Given the description of an element on the screen output the (x, y) to click on. 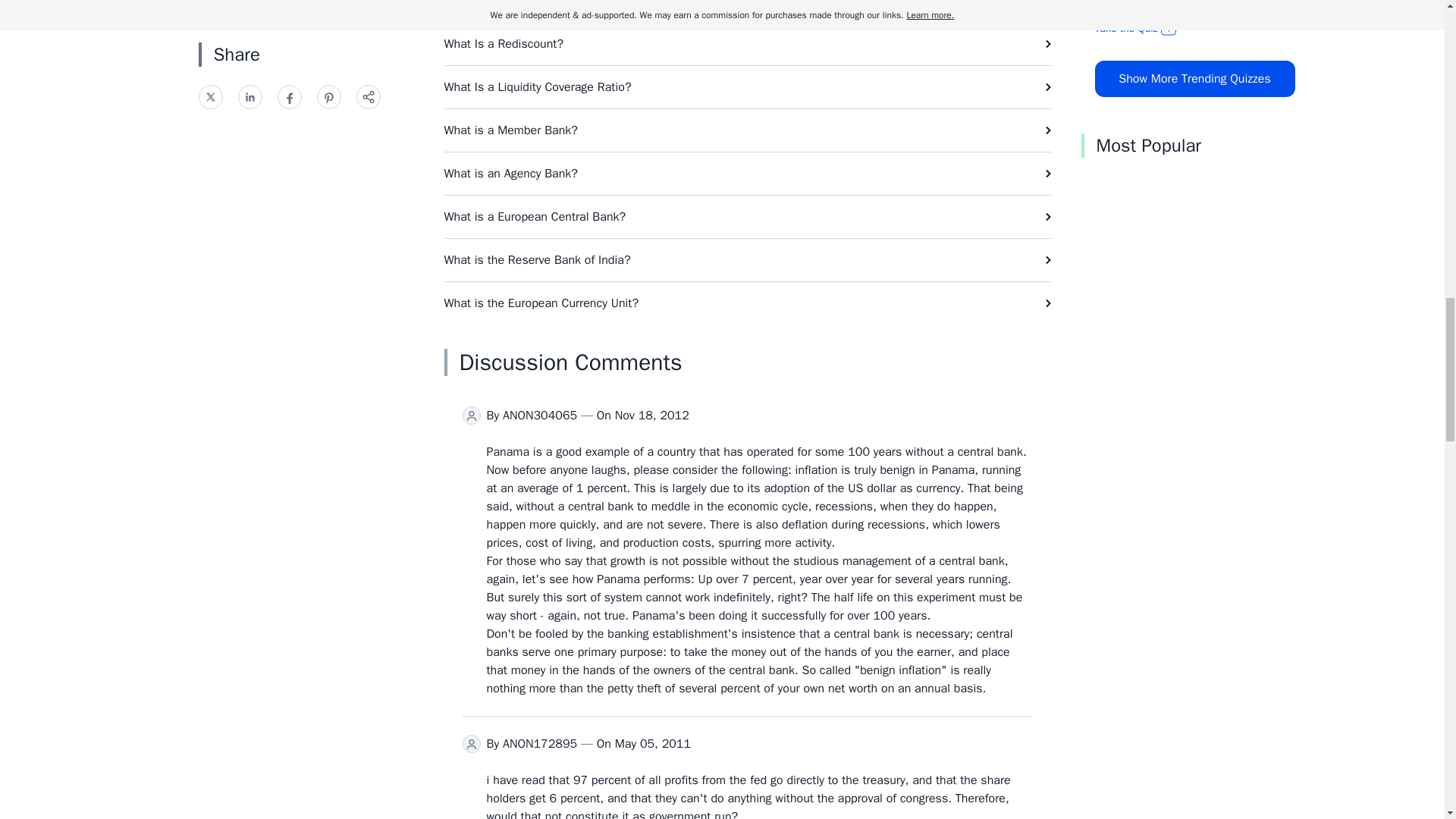
What Is a Rediscount? (747, 43)
What is a European Central Bank? (747, 216)
What is an Agency Bank? (747, 173)
What is the European Currency Unit? (747, 302)
What Is a Liquidity Coverage Ratio? (747, 87)
What is the Reserve Bank of India? (747, 260)
What is a Member Bank? (747, 129)
